Given the description of an element on the screen output the (x, y) to click on. 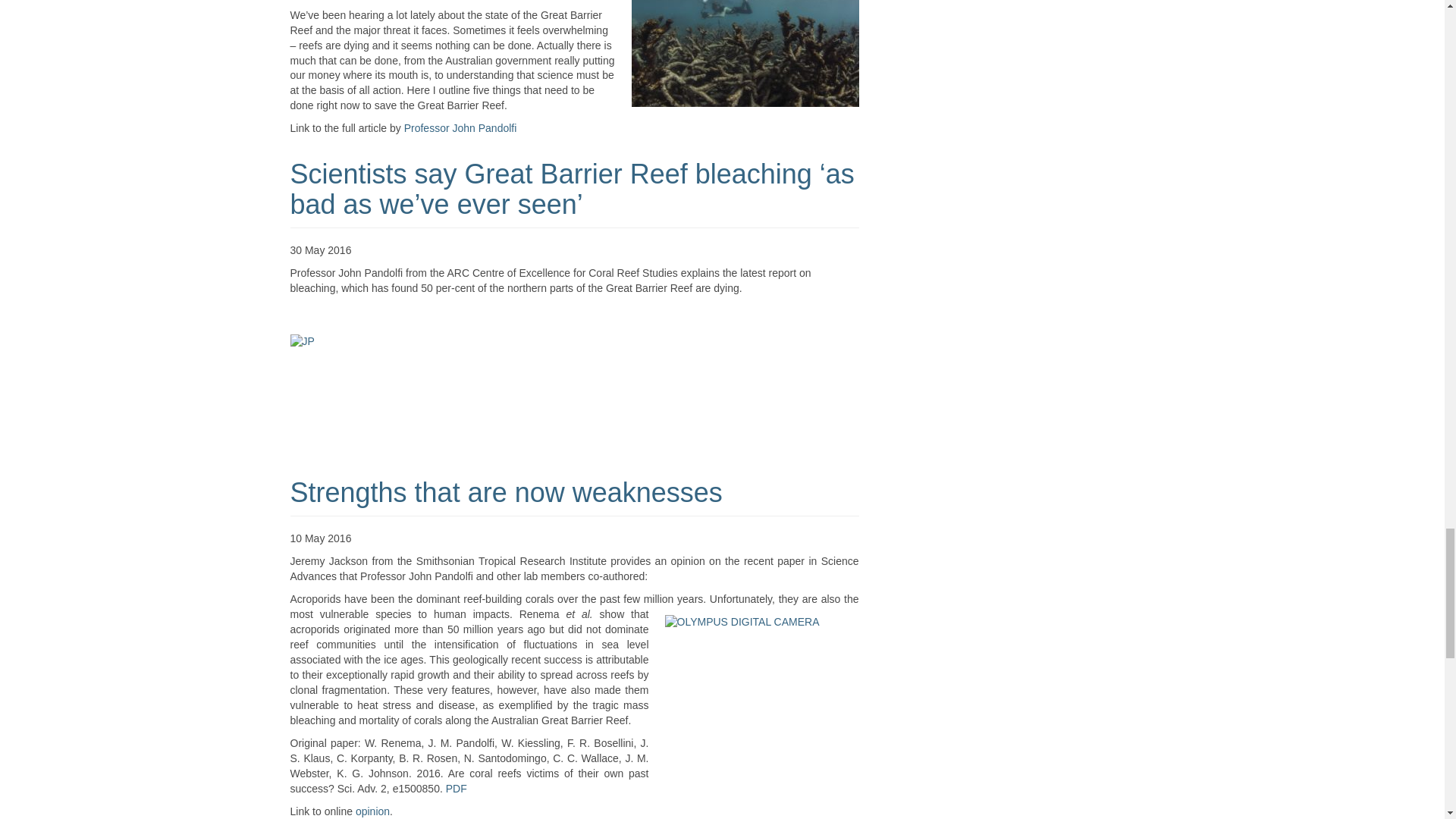
Professor John Pandolfi (460, 128)
